Given the description of an element on the screen output the (x, y) to click on. 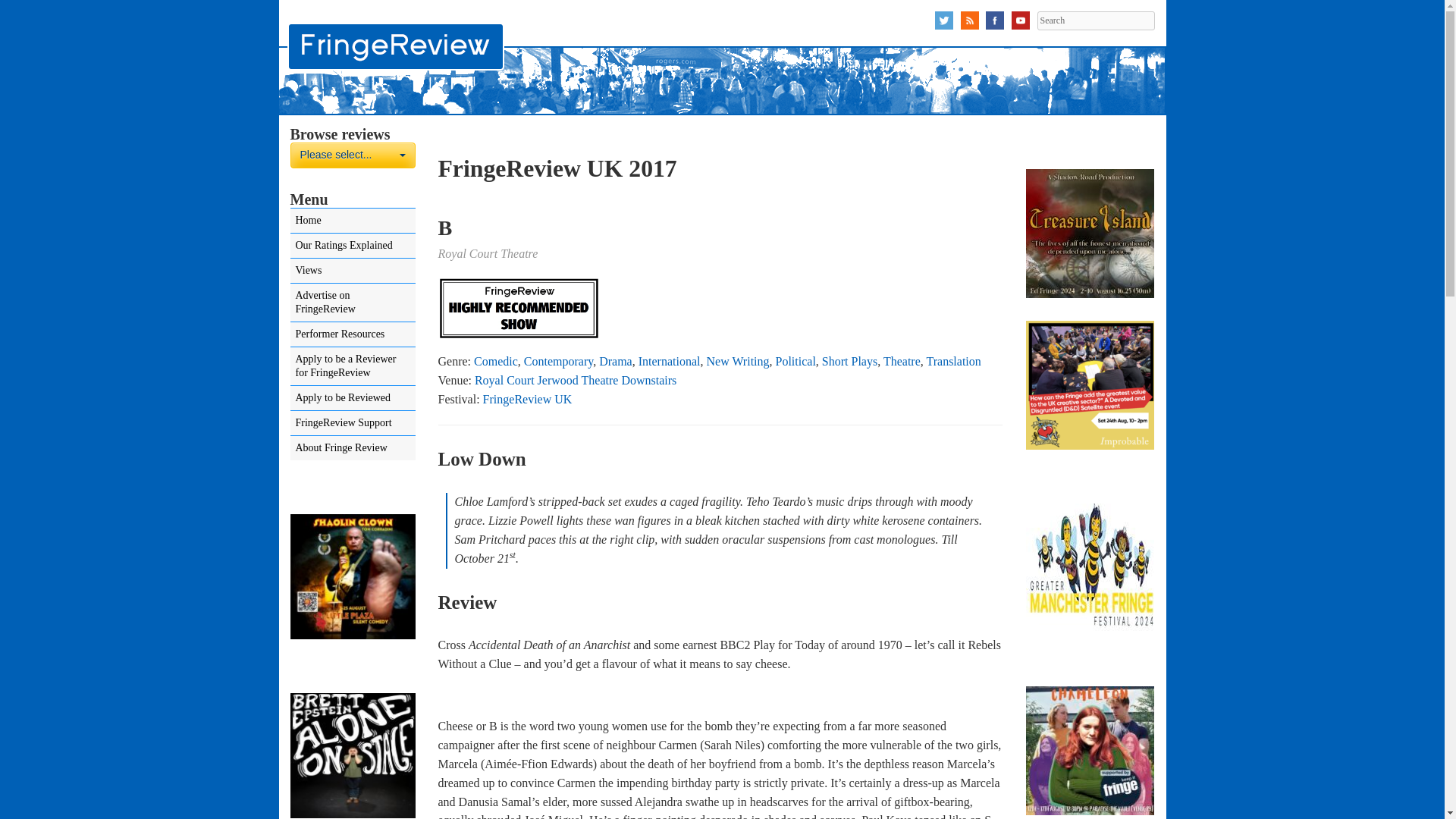
Search (1095, 20)
Search for: (1095, 20)
Search (351, 155)
Please select... (1095, 20)
